Given the description of an element on the screen output the (x, y) to click on. 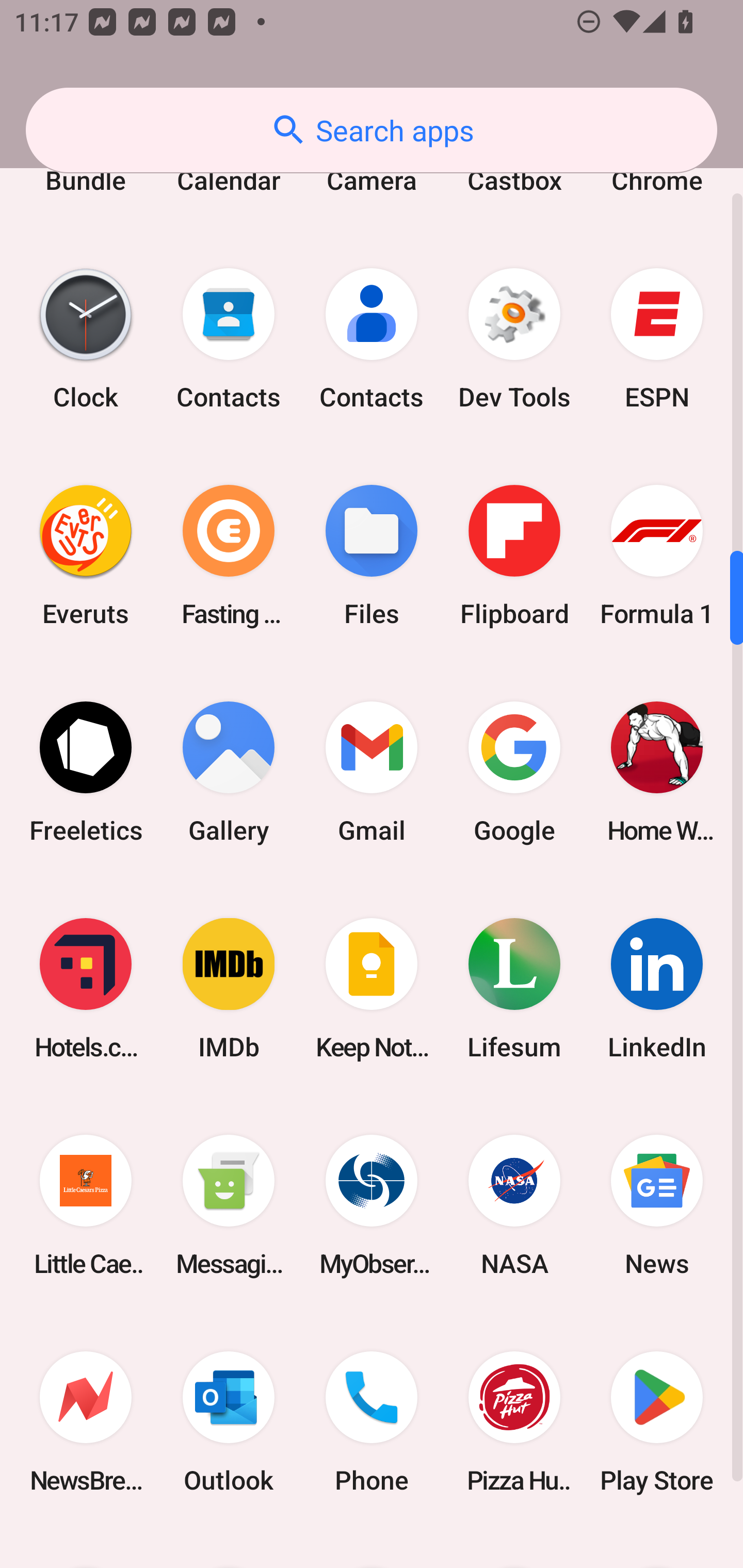
  Search apps (371, 130)
Clock (85, 338)
Contacts (228, 338)
Contacts (371, 338)
Dev Tools (514, 338)
ESPN (656, 338)
Everuts (85, 554)
Fasting Coach (228, 554)
Files (371, 554)
Flipboard (514, 554)
Formula 1 (656, 554)
Freeletics (85, 772)
Gallery (228, 772)
Gmail (371, 772)
Google (514, 772)
Home Workout (656, 772)
Hotels.com (85, 989)
IMDb (228, 989)
Keep Notes (371, 989)
Lifesum (514, 989)
LinkedIn (656, 989)
Little Caesars Pizza (85, 1205)
Messaging (228, 1205)
MyObservatory (371, 1205)
NASA (514, 1205)
News (656, 1205)
NewsBreak (85, 1421)
Outlook (228, 1421)
Phone (371, 1421)
Pizza Hut HK & Macau (514, 1421)
Play Store (656, 1421)
